Given the description of an element on the screen output the (x, y) to click on. 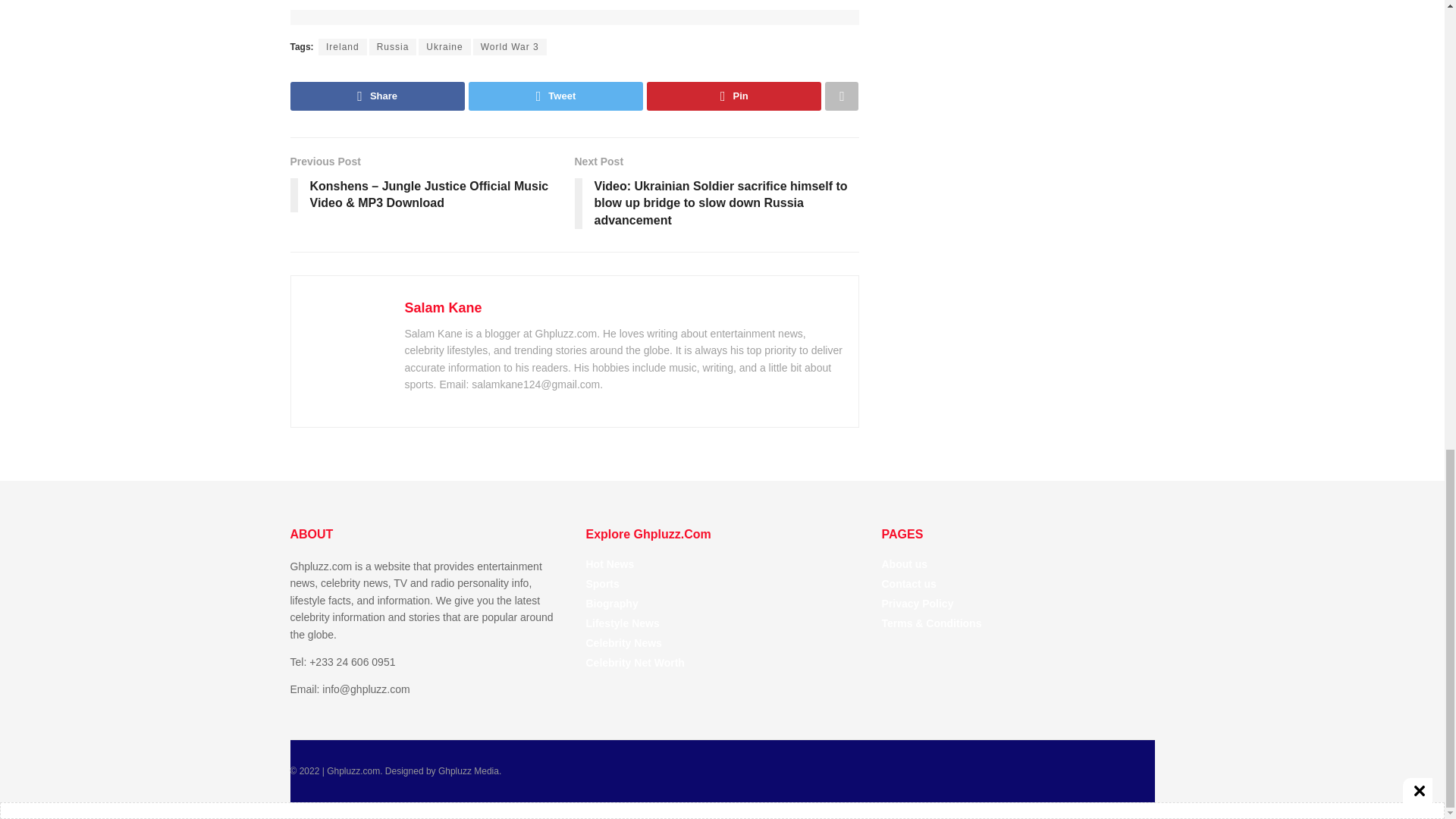
Pin (733, 95)
Salam Kane (442, 307)
Russia (392, 46)
World War 3 (510, 46)
Ukraine (444, 46)
Tweet (555, 95)
Share (376, 95)
Ireland (342, 46)
